Given the description of an element on the screen output the (x, y) to click on. 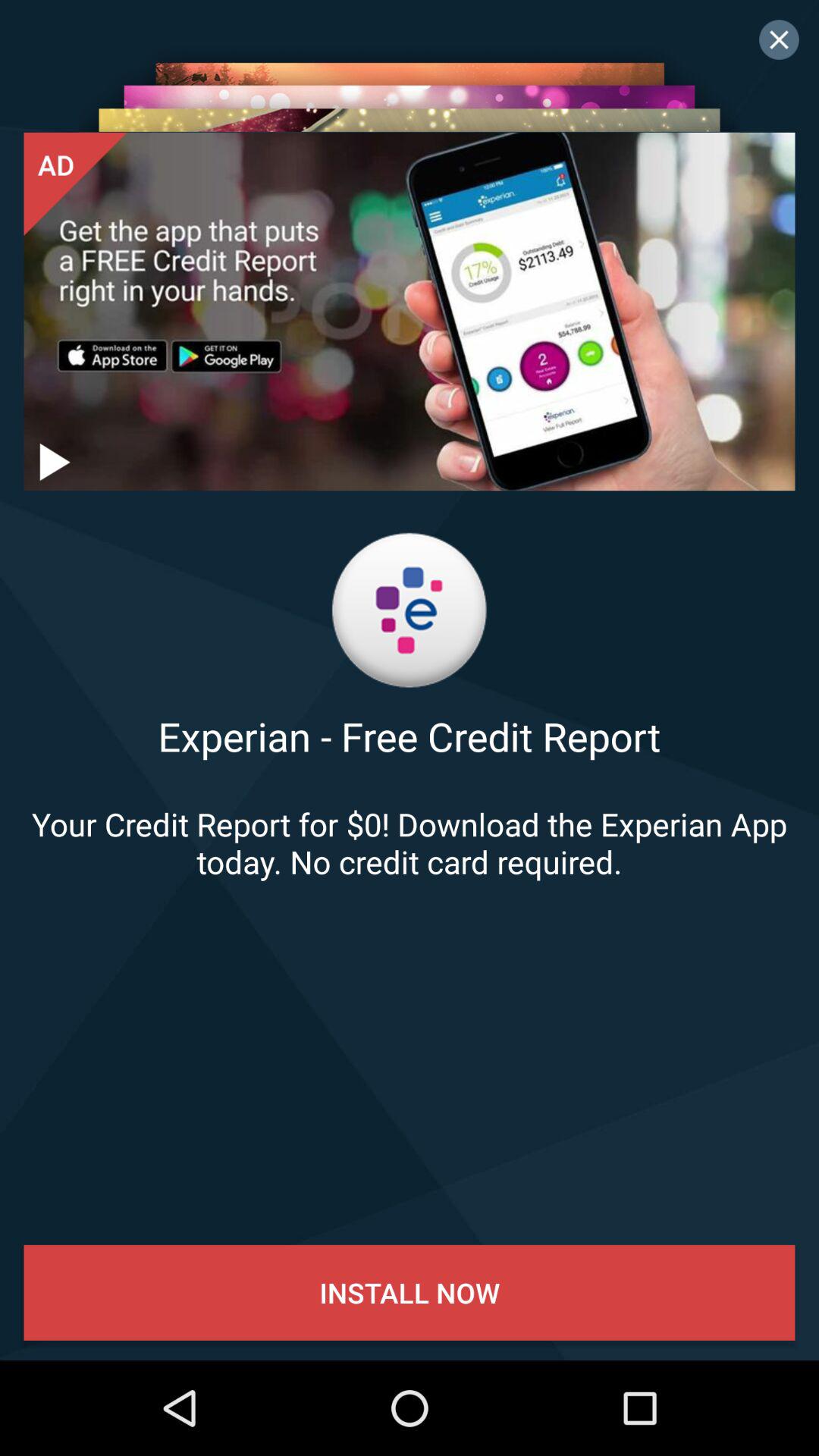
launch the icon below your credit report app (409, 1292)
